Given the description of an element on the screen output the (x, y) to click on. 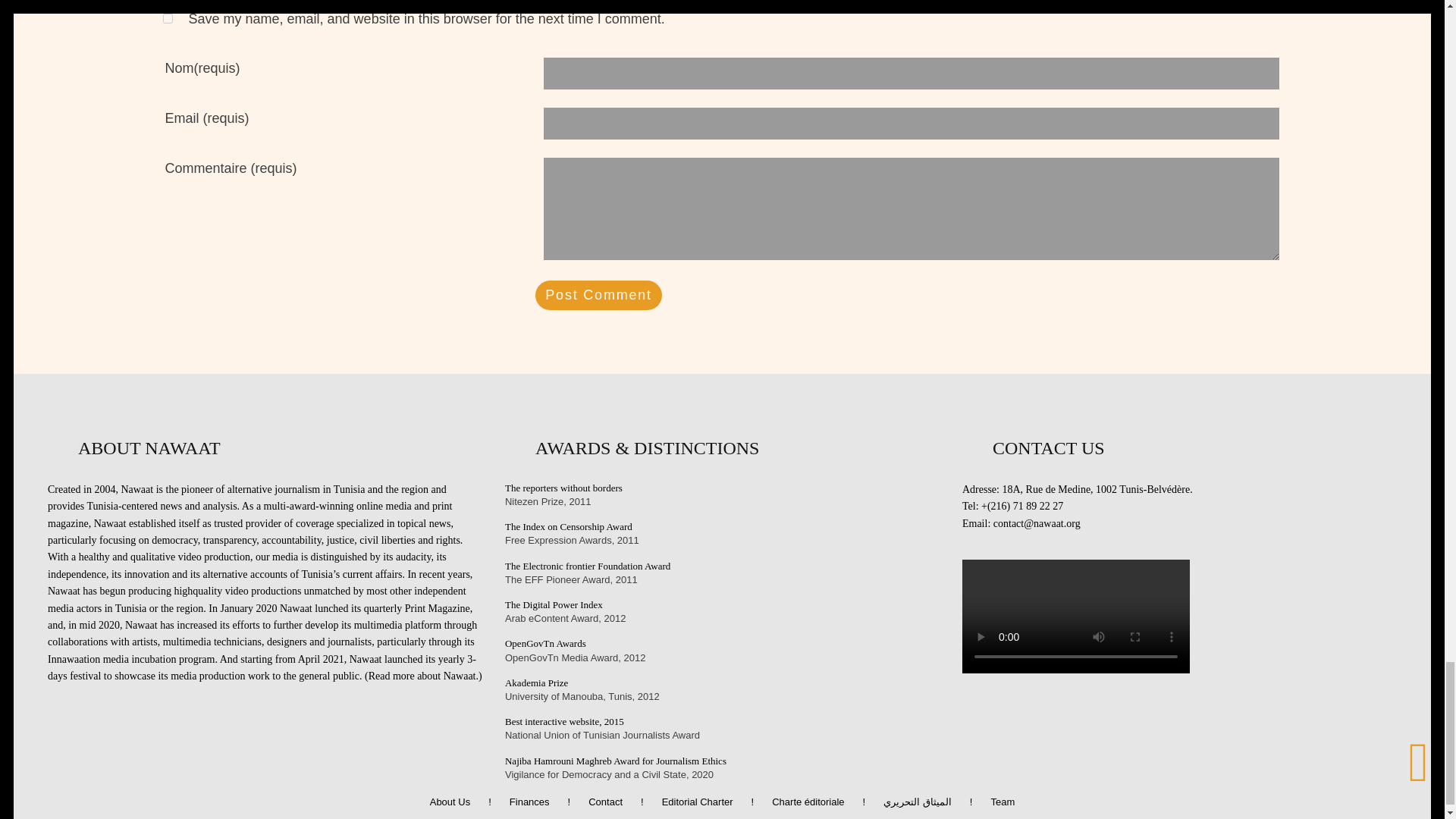
National Union of Tunisian Journalists Award (722, 721)
yes (166, 18)
Arab eContent Award, 2012 (722, 604)
Vigilance for Democracy and a Civil State, 2020 (722, 760)
The EFF Pioneer Award, 2011 (722, 566)
University of Manouba, Tunis, 2012 (722, 683)
Post Comment (598, 295)
Free Expression Awards, 2011 (722, 526)
OpenGovTn Media Award, 2012 (722, 643)
Nitezen Prize, 2011 (722, 488)
